Given the description of an element on the screen output the (x, y) to click on. 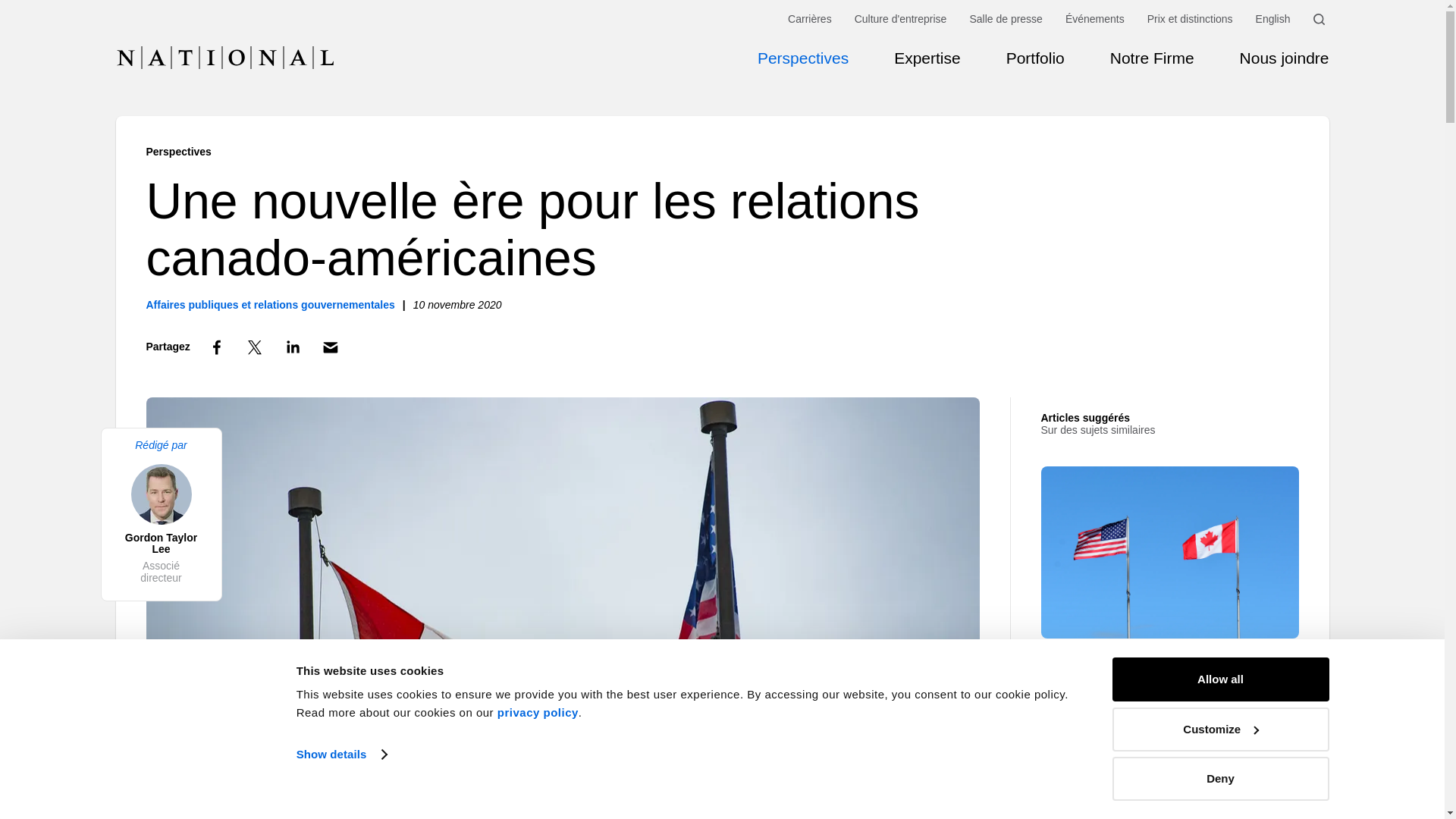
privacy policy (537, 712)
Show details (341, 753)
